Given the description of an element on the screen output the (x, y) to click on. 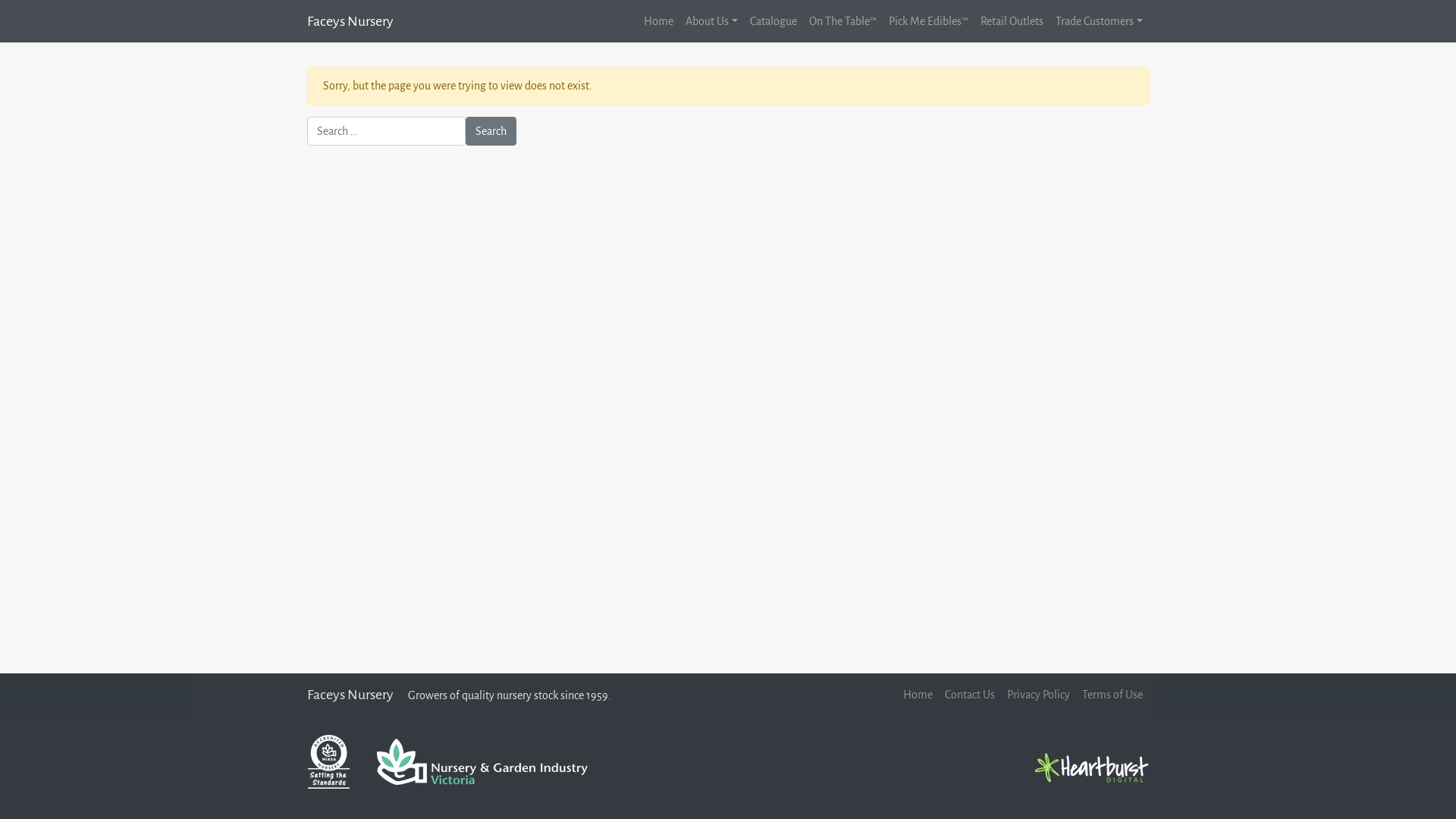
Home Element type: text (658, 21)
Terms of Use Element type: text (1112, 694)
Home Element type: text (917, 694)
Catalogue Element type: text (773, 21)
About Us Element type: text (711, 21)
Built with love by Heartburst Digital Element type: hover (1091, 767)
Faceys Nursery Element type: text (350, 21)
Privacy Policy Element type: text (1038, 694)
Faceys Nursery Element type: text (350, 694)
Search Element type: text (490, 130)
Retail Outlets Element type: text (1011, 21)
Trade Customers Element type: text (1098, 21)
Contact Us Element type: text (969, 694)
